Given the description of an element on the screen output the (x, y) to click on. 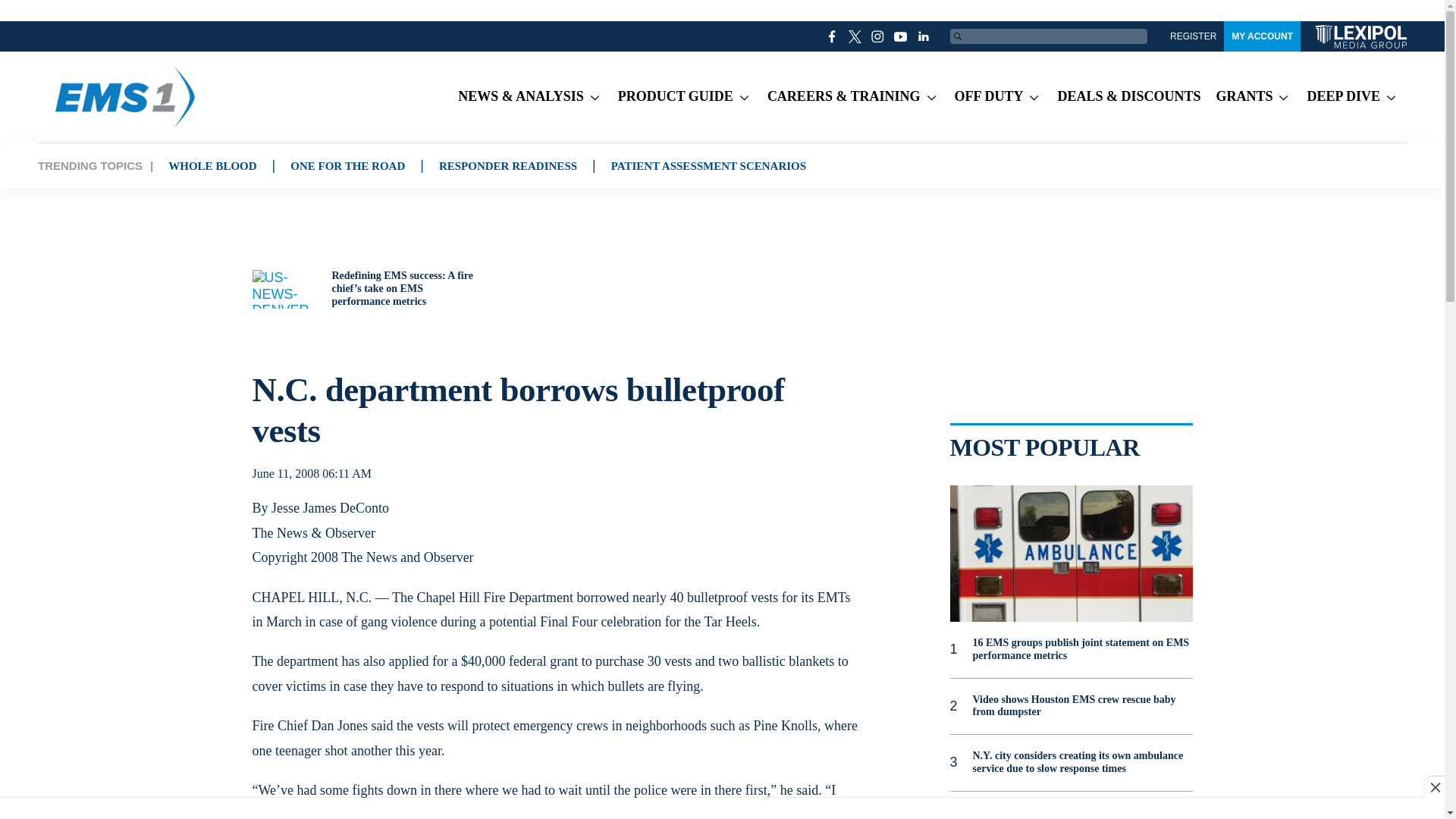
MY ACCOUNT (1262, 36)
youtube (900, 36)
REGISTER (1192, 36)
instagram (877, 36)
twitter (855, 36)
facebook (832, 36)
linkedin (923, 36)
